Given the description of an element on the screen output the (x, y) to click on. 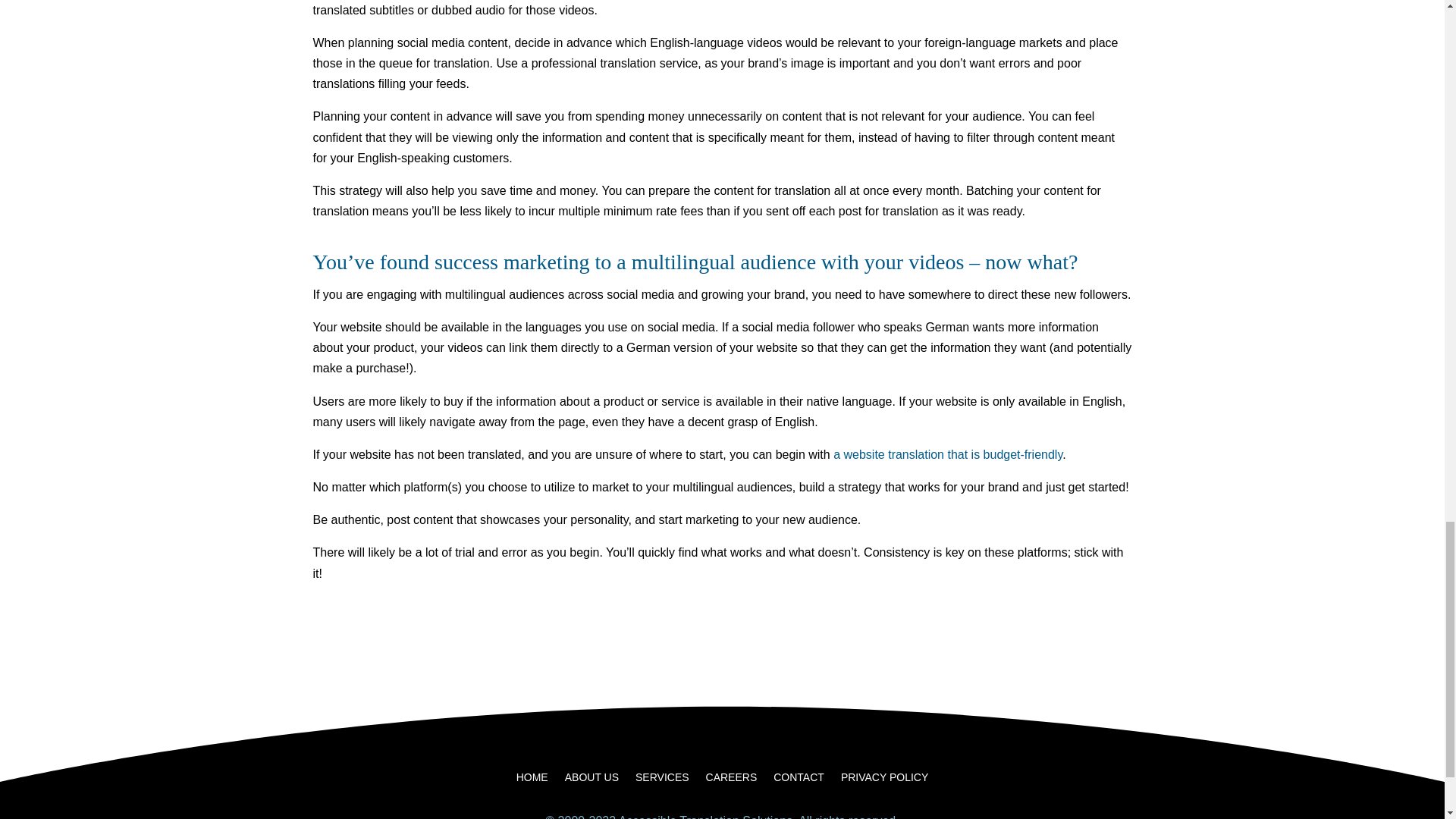
a website translation that is budget-friendly (947, 454)
CAREERS (731, 780)
CONTACT (798, 780)
SERVICES (661, 780)
HOME (532, 780)
ABOUT US (591, 780)
